Given the description of an element on the screen output the (x, y) to click on. 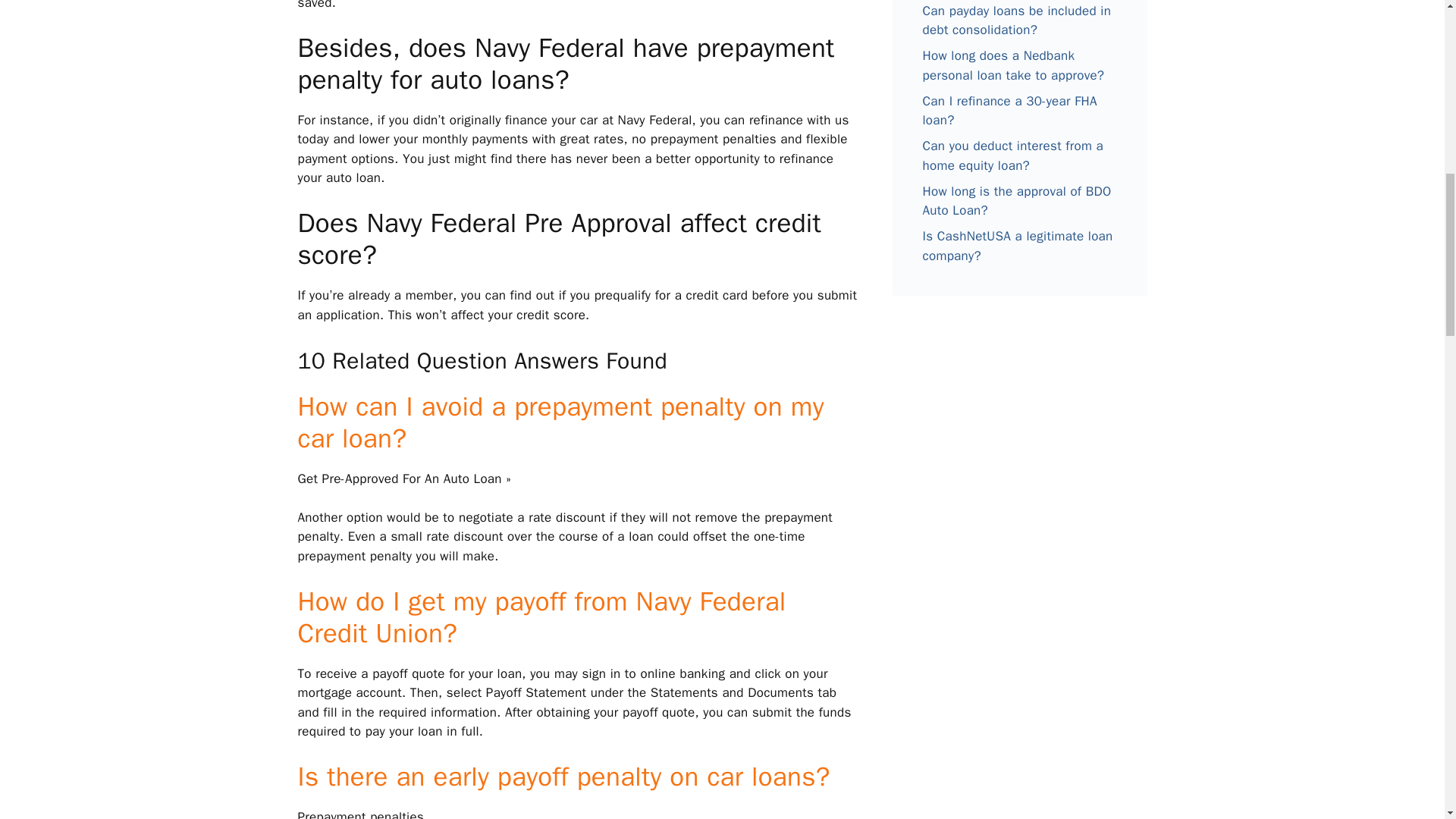
How long is the approval of BDO Auto Loan? (1015, 201)
How can I avoid a prepayment penalty on my car loan? (560, 422)
Can I refinance a 30-year FHA loan? (1008, 110)
Is CashNetUSA a legitimate loan company? (1016, 245)
Can payday loans be included in debt consolidation? (1015, 20)
Is there an early payoff penalty on car loans? (563, 776)
How do I get my payoff from Navy Federal Credit Union? (541, 617)
Can you deduct interest from a home equity loan? (1012, 155)
How do I get my payoff from Navy Federal Credit Union? (541, 617)
How long does a Nedbank personal loan take to approve? (1012, 65)
